Given the description of an element on the screen output the (x, y) to click on. 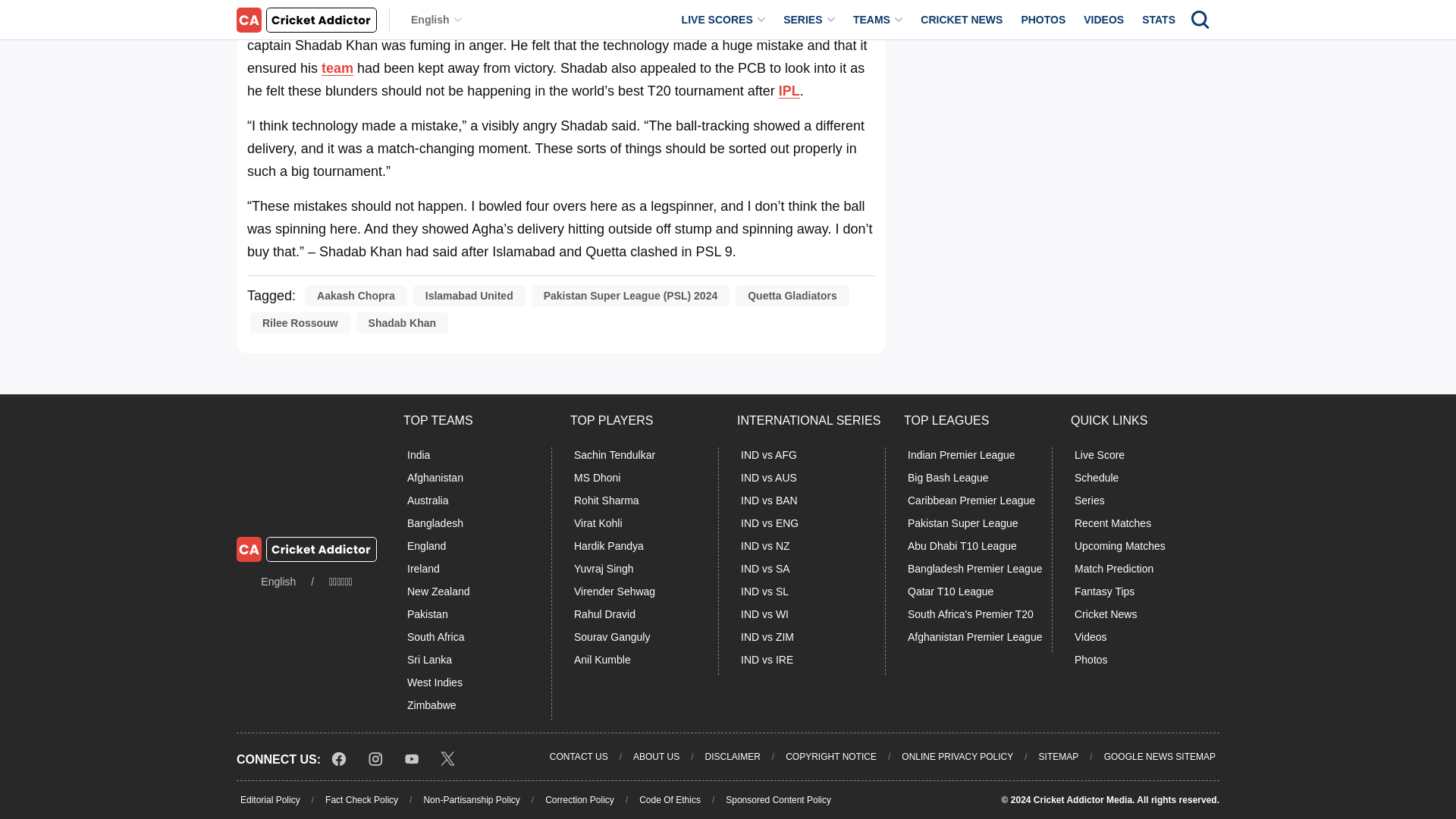
IPL (788, 90)
